Given the description of an element on the screen output the (x, y) to click on. 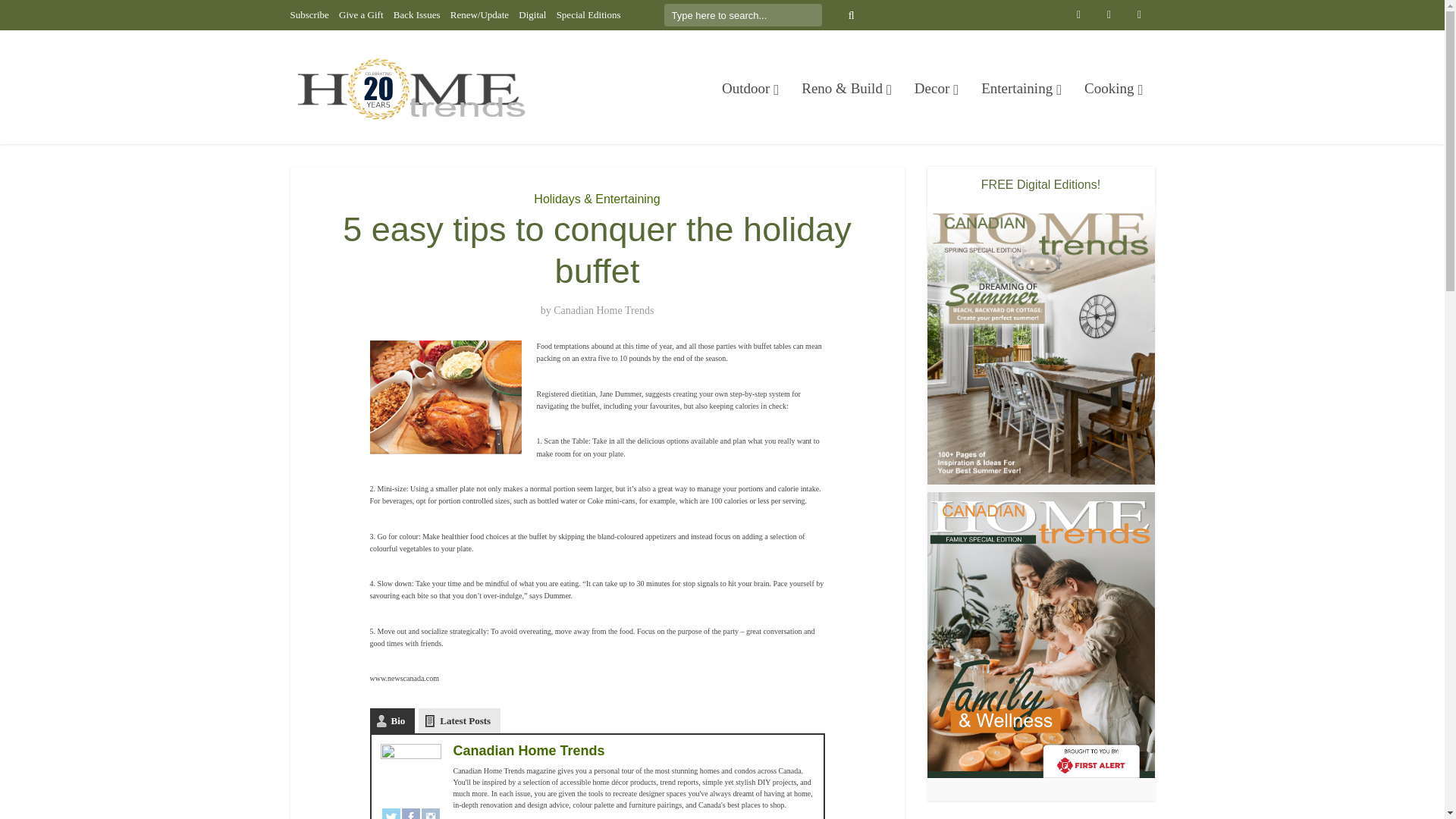
Facebook (410, 813)
Type here to search... (742, 15)
Subscribe (309, 14)
Instagram (430, 813)
Type here to search... (742, 15)
Twitter (390, 813)
Special Editions (588, 14)
Digital (532, 14)
Give a Gift (360, 14)
Back Issues (417, 14)
